Given the description of an element on the screen output the (x, y) to click on. 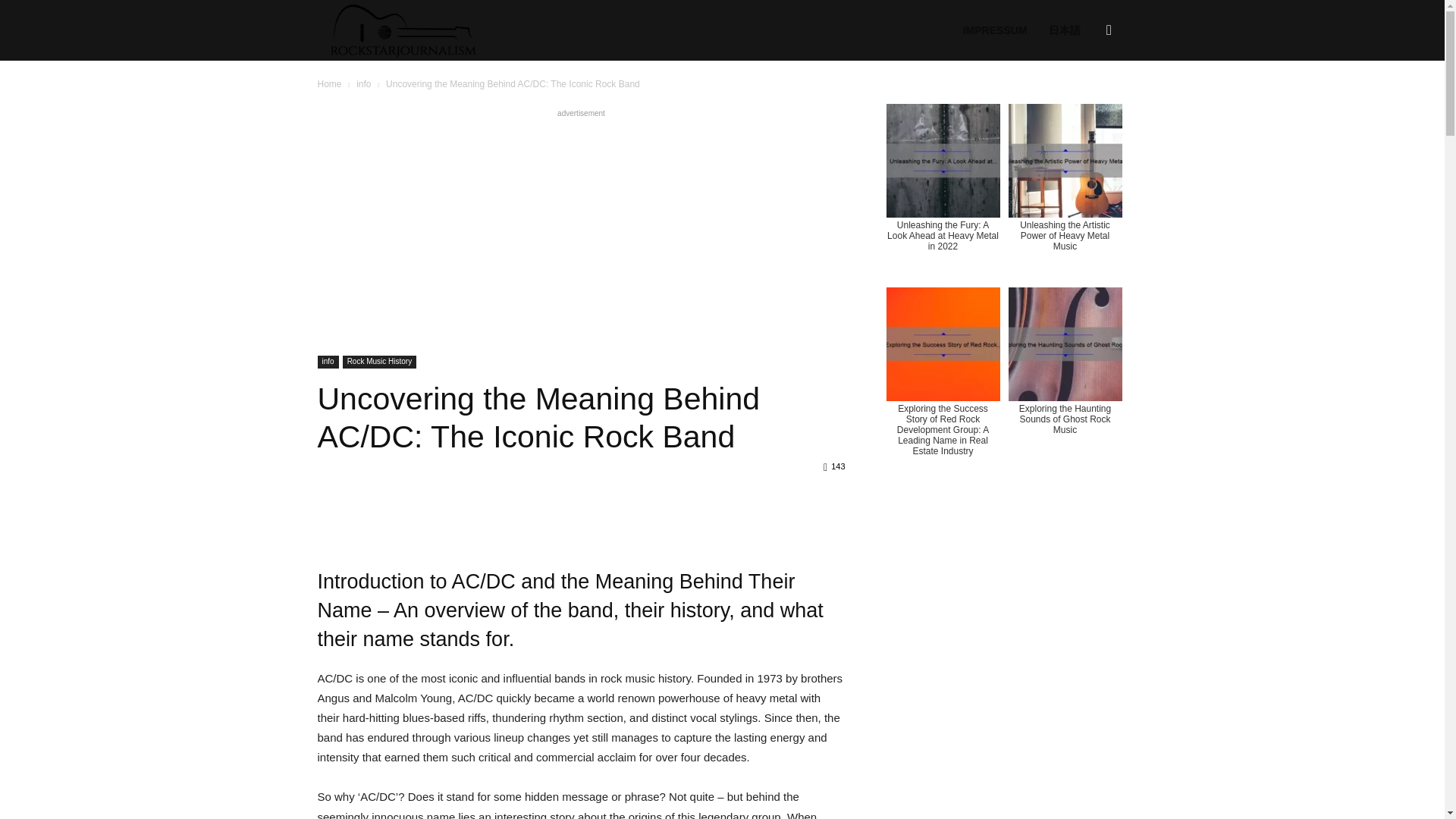
Rock Music History (379, 361)
info (327, 361)
Rock Star Journalism (401, 30)
Search (1085, 102)
Home (328, 83)
IMPRESSUM (995, 30)
View all posts in info (363, 83)
info (363, 83)
